Given the description of an element on the screen output the (x, y) to click on. 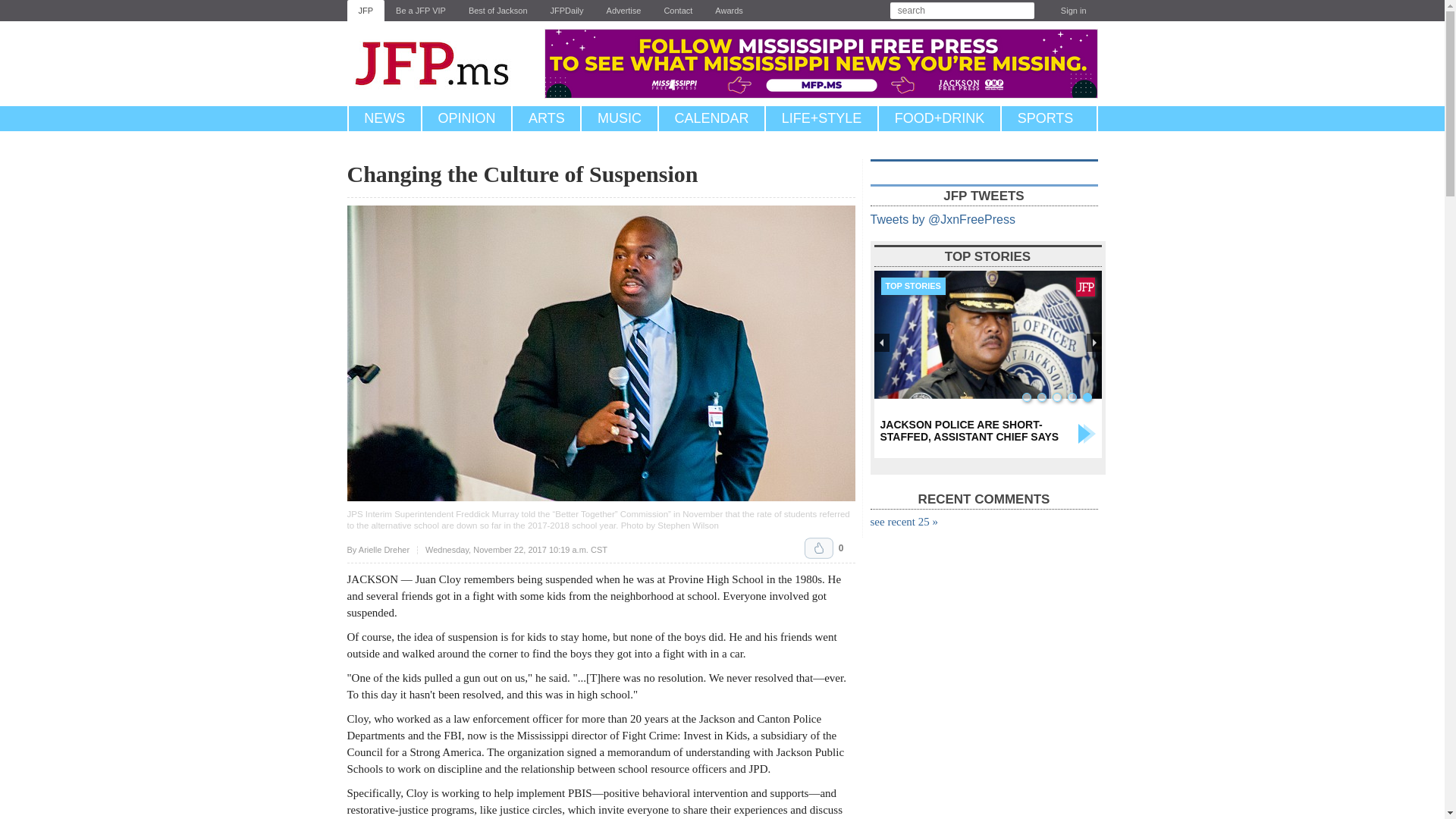
ARTS (545, 118)
NEWS (384, 118)
Awards (728, 10)
Upvote (818, 547)
OPINION (466, 118)
Arielle Dreher (383, 549)
JFPDaily (566, 10)
Advertise (623, 10)
Be a JFP VIP (420, 10)
Wednesday, November 22, 2017 10:19 a.m. CST (516, 550)
CALENDAR (711, 118)
Contact (677, 10)
Best of Jackson (497, 10)
MUSIC (618, 118)
SPORTS (1045, 118)
